Given the description of an element on the screen output the (x, y) to click on. 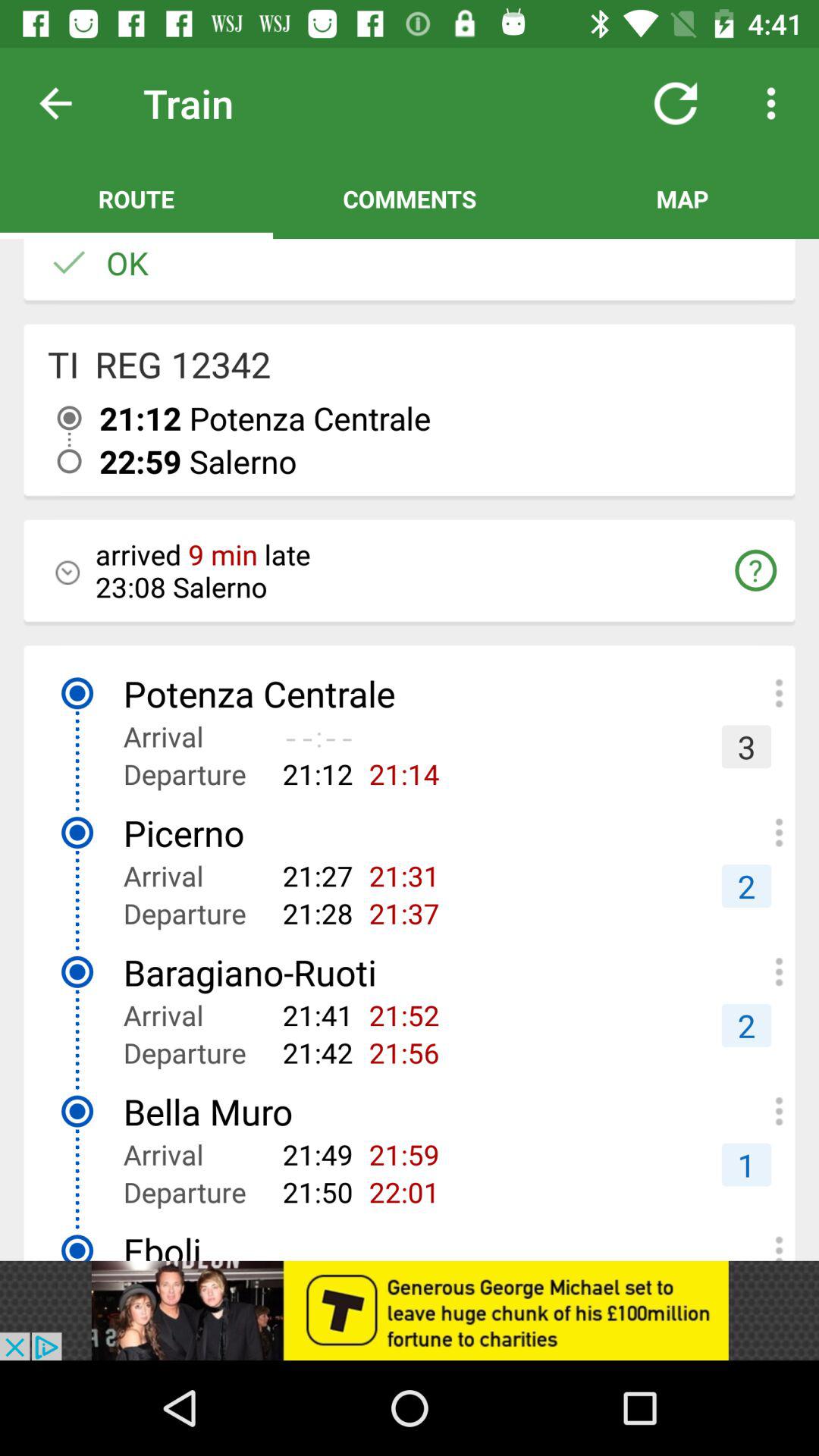
go to next (67, 103)
